Given the description of an element on the screen output the (x, y) to click on. 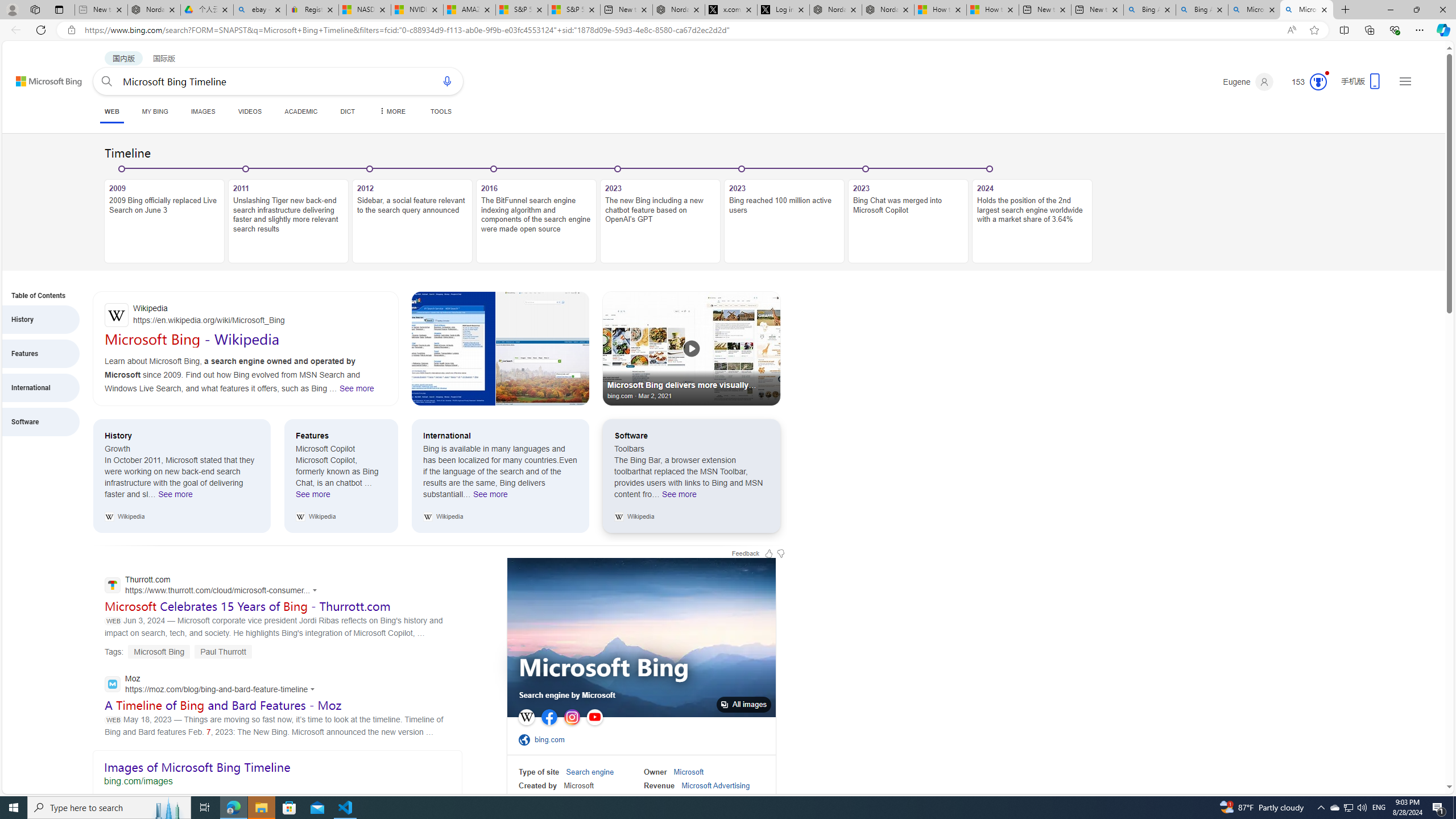
Wikipedia (526, 716)
Feedback Like (768, 552)
2023 Bing reached 100 million active users (784, 220)
See more History (175, 496)
MORE (391, 111)
How to Use a Monitor With Your Closed Laptop (992, 9)
Microsoft Advertising (715, 785)
Search engine (590, 772)
Created by (537, 785)
Microsoft Bing (603, 668)
